Given the description of an element on the screen output the (x, y) to click on. 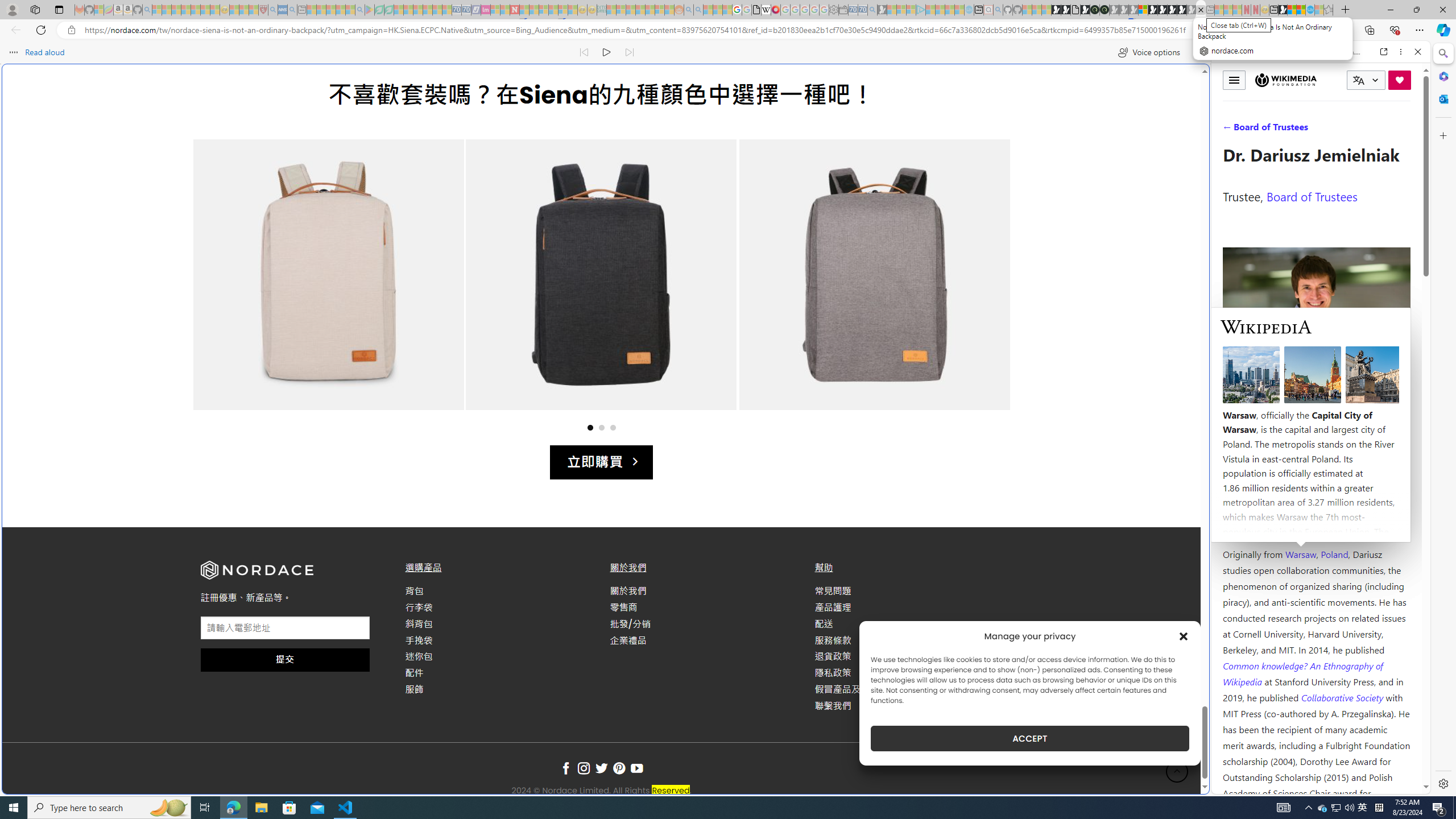
Previous (222, 285)
Read next paragraph (628, 52)
Voice options (1149, 52)
Follow on Instagram (583, 768)
Future Focus Report 2024 (1103, 9)
